Given the description of an element on the screen output the (x, y) to click on. 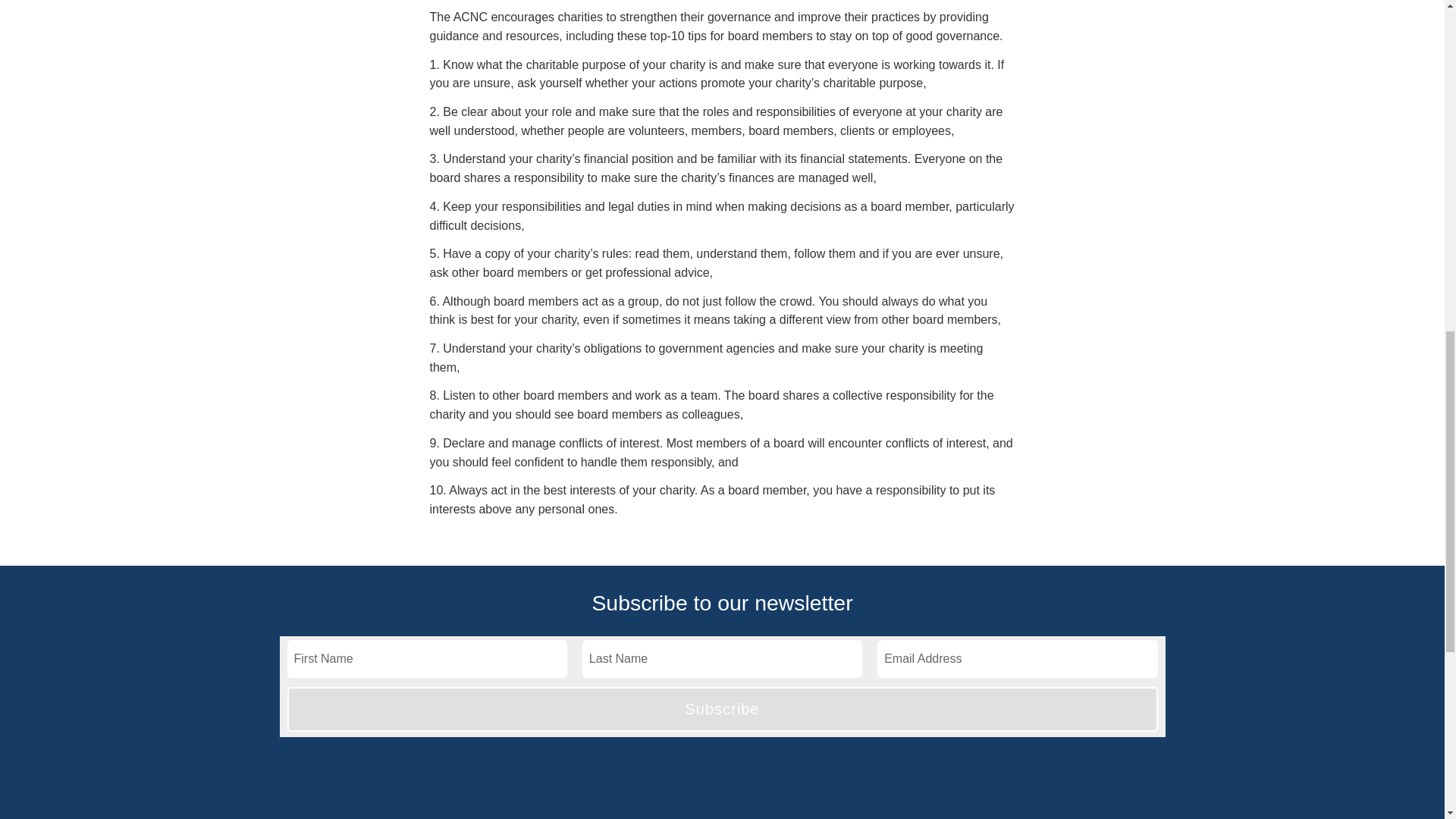
Subscribe (721, 709)
